Given the description of an element on the screen output the (x, y) to click on. 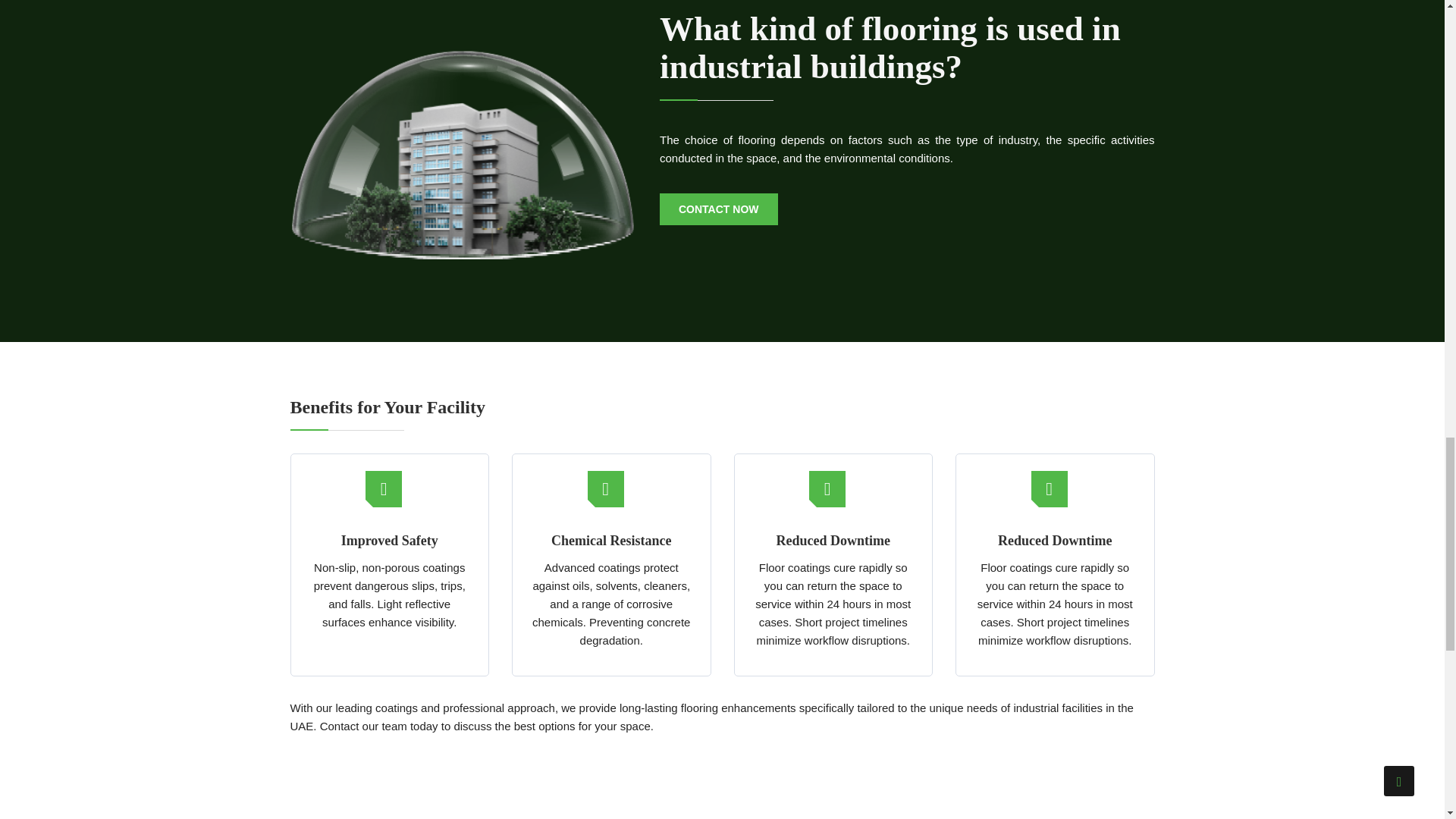
CONTACT NOW (718, 209)
